Given the description of an element on the screen output the (x, y) to click on. 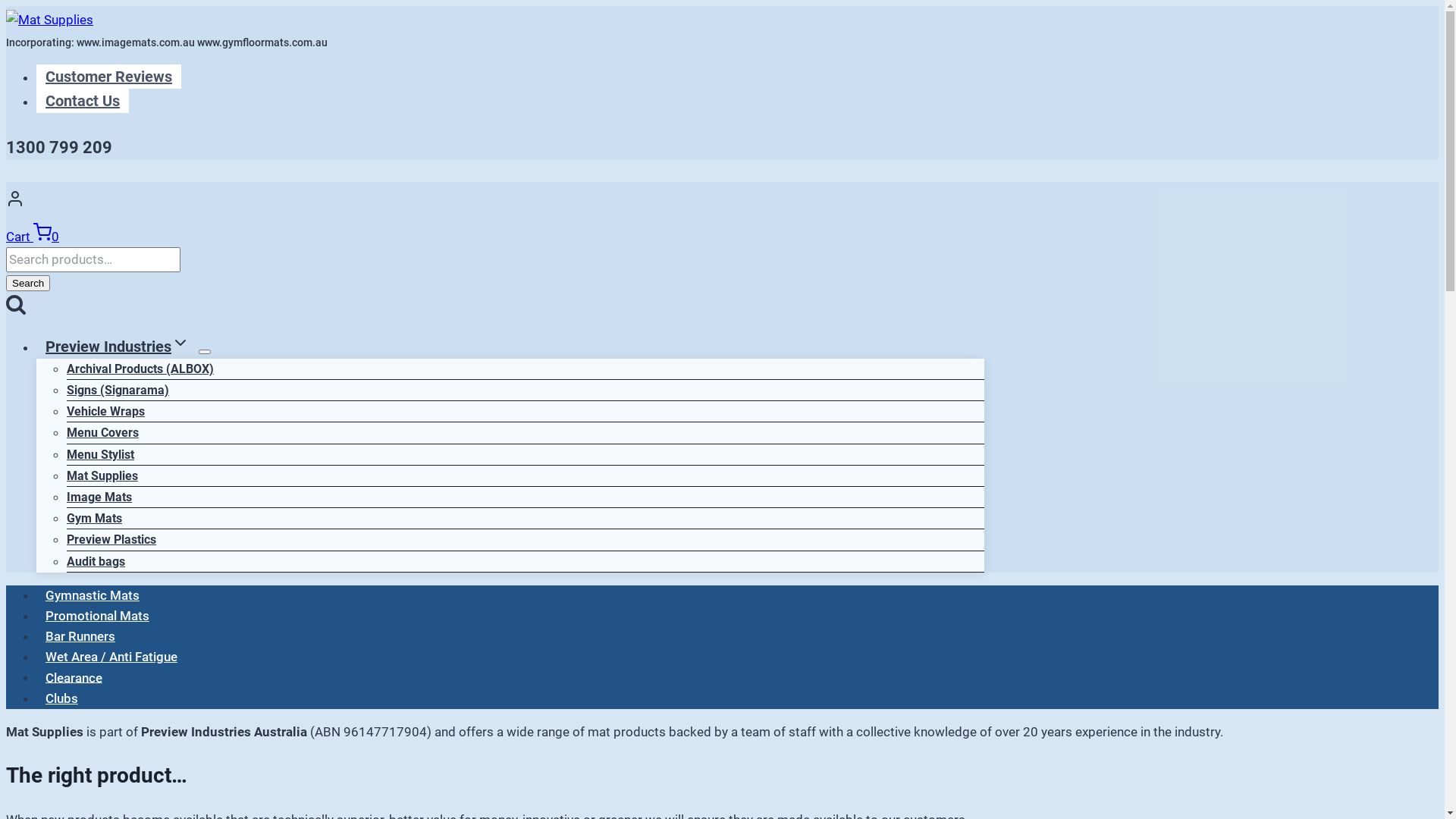
Menu Covers Element type: text (102, 432)
Clearance Element type: text (73, 677)
Vehicle Wraps Element type: text (105, 411)
Audit bags Element type: text (95, 561)
Signs (Signarama) Element type: text (117, 389)
Account Element type: text (495, 202)
Clubs Element type: text (61, 698)
Skip to content Element type: text (5, 5)
Gymnastic Mats Element type: text (92, 595)
Promotional Mats Element type: text (97, 615)
Contact Us Element type: text (82, 100)
Menu Stylist Element type: text (100, 454)
Customer Reviews Element type: text (108, 76)
Mat Supplies Element type: text (102, 475)
Gym Mats Element type: text (94, 517)
Image Mats Element type: text (98, 496)
Cart Shopping Cart 0 Element type: text (32, 236)
Search Element type: text (28, 283)
Wet Area / Anti Fatigue Element type: text (111, 656)
Preview IndustriesExpand Element type: text (117, 346)
Archival Products (ALBOX) Element type: text (139, 368)
Bar Runners Element type: text (80, 636)
Preview Plastics Element type: text (111, 539)
